Given the description of an element on the screen output the (x, y) to click on. 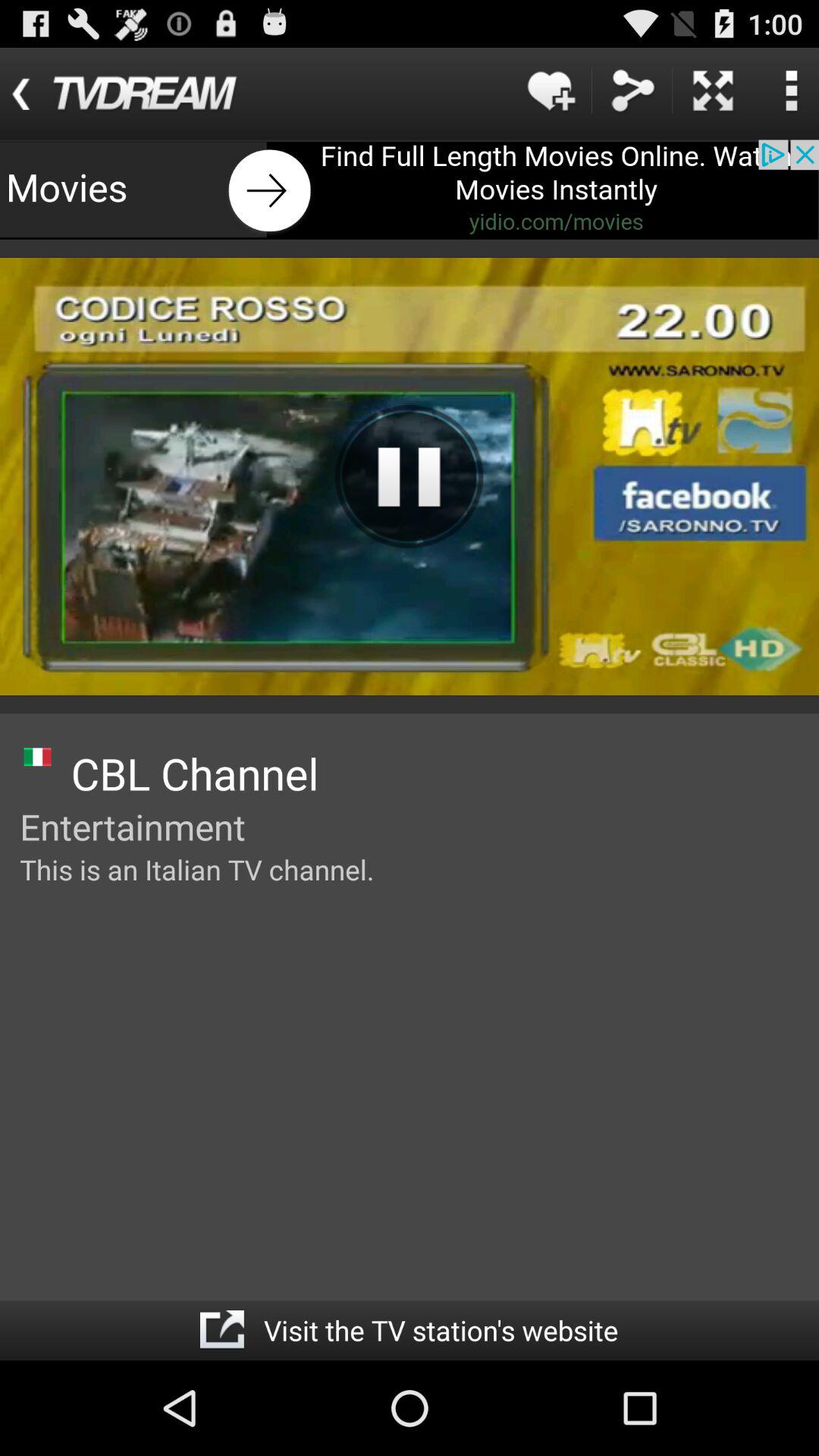
open the specific page (221, 1330)
